Given the description of an element on the screen output the (x, y) to click on. 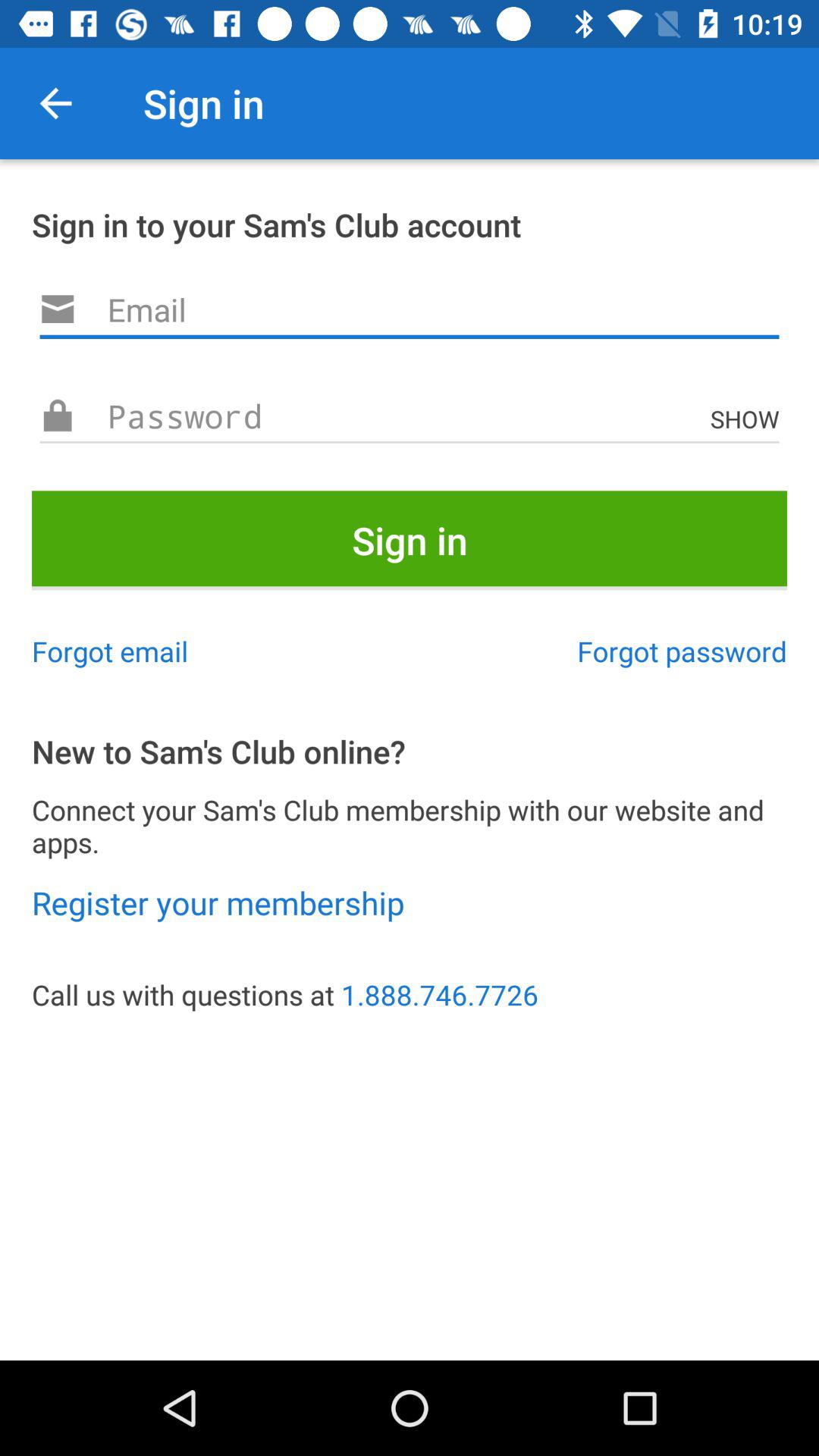
jump to forgot password (682, 650)
